Given the description of an element on the screen output the (x, y) to click on. 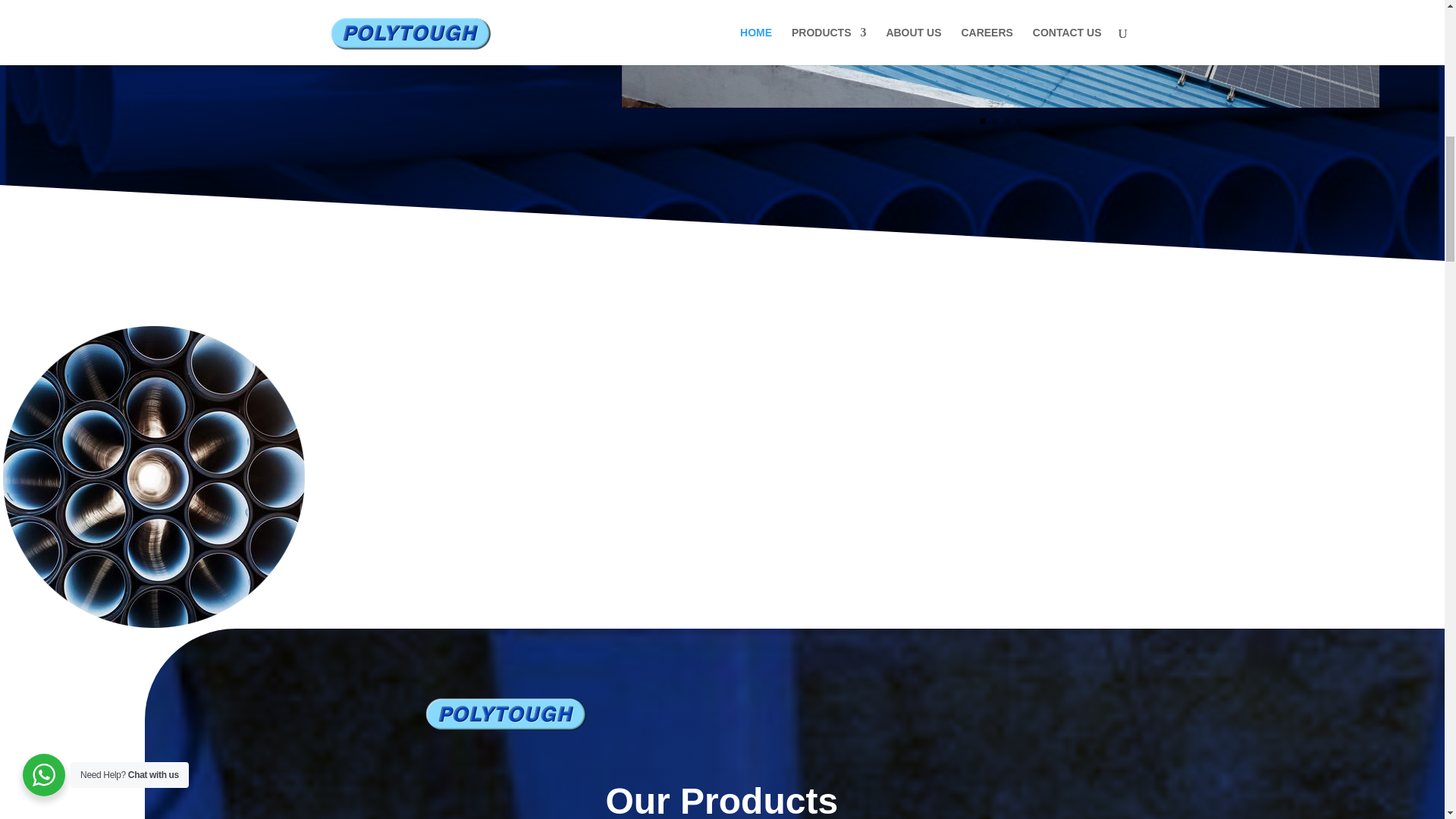
Polytough-Logo-Blue (504, 713)
